Given the description of an element on the screen output the (x, y) to click on. 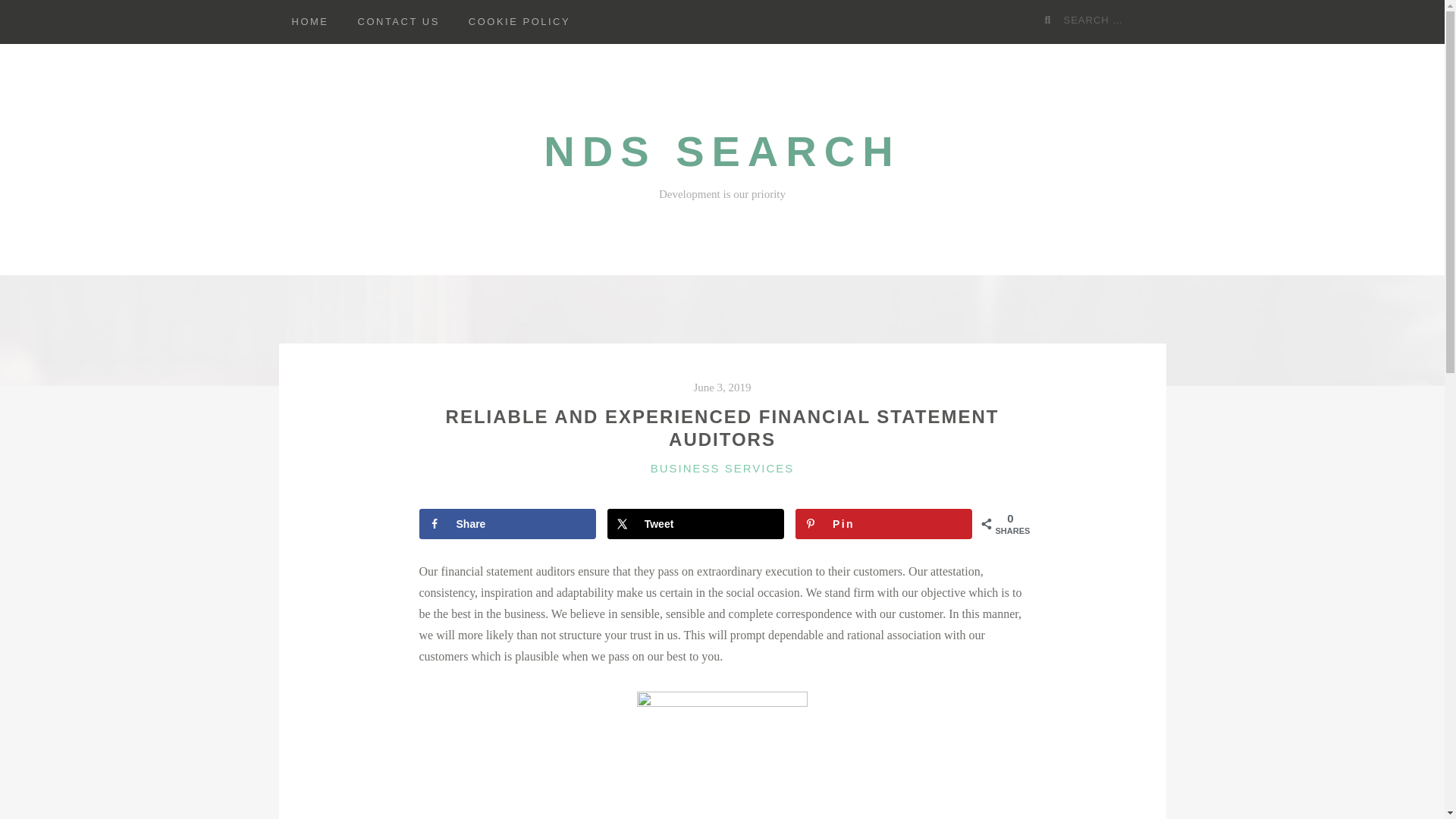
Share (507, 523)
BUSINESS SERVICES (722, 467)
Share on Facebook (507, 523)
COOKIE POLICY (519, 21)
June 3, 2019 (722, 387)
Tweet (695, 523)
Save to Pinterest (883, 523)
Pin (883, 523)
financ.jpg (722, 755)
HOME (310, 21)
CONTACT US (397, 21)
NDS SEARCH (721, 151)
Share on X (695, 523)
